Given the description of an element on the screen output the (x, y) to click on. 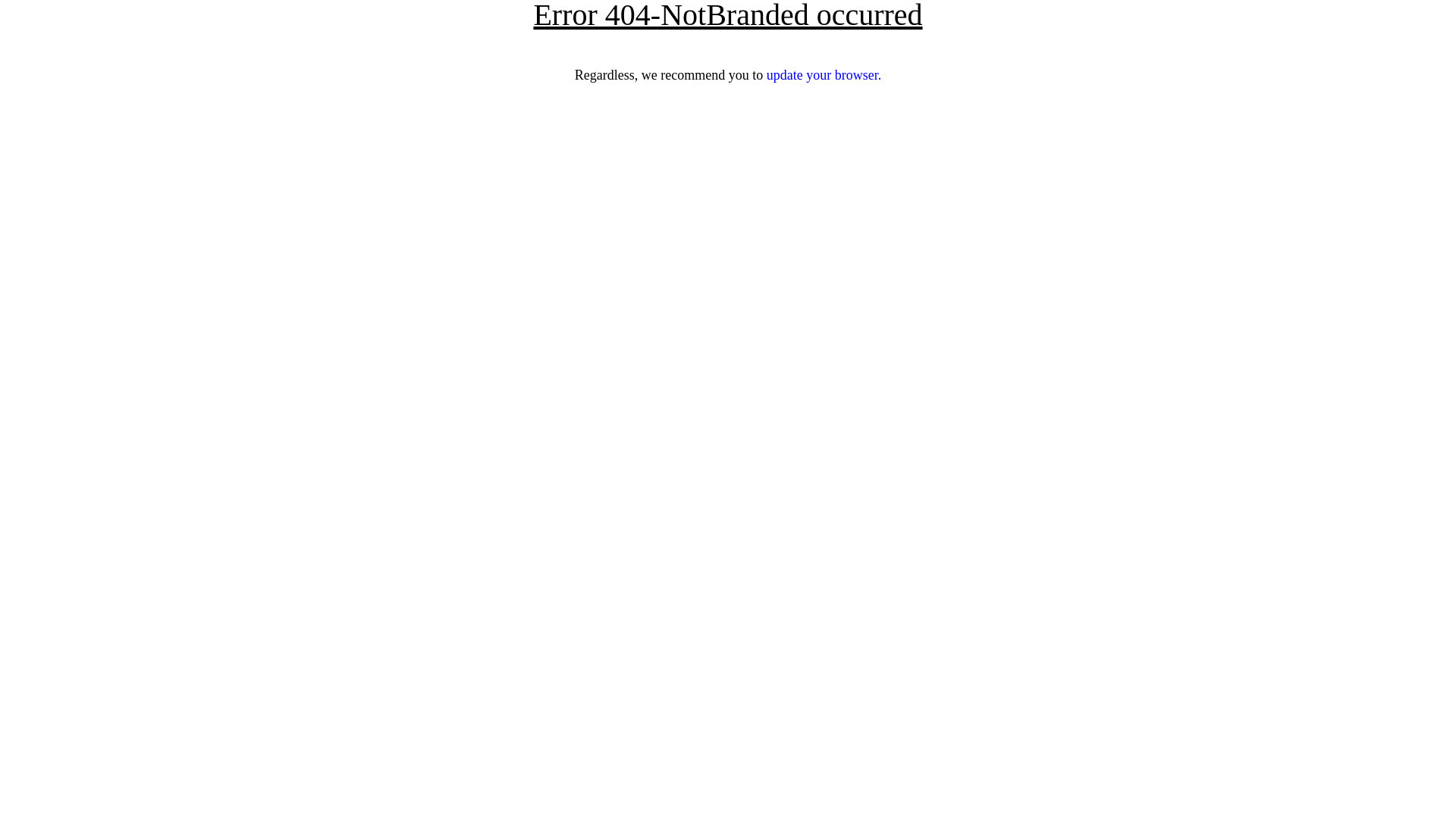
update your browser. Element type: text (823, 74)
